Given the description of an element on the screen output the (x, y) to click on. 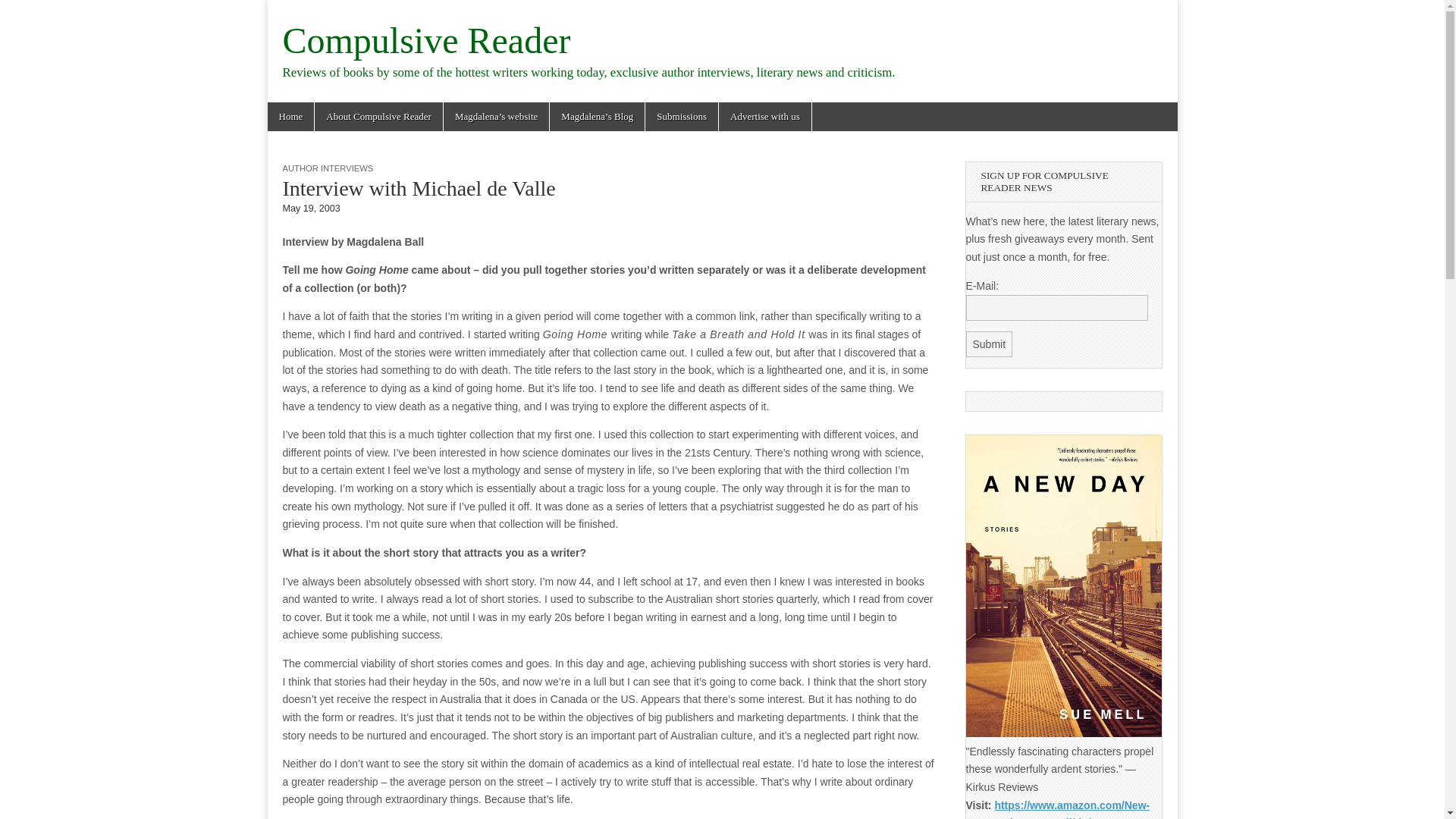
About Compulsive Reader (378, 116)
Submit (989, 344)
Submissions (681, 116)
AUTHOR INTERVIEWS (327, 167)
Compulsive Reader (426, 40)
Home (290, 116)
Compulsive Reader (426, 40)
Advertise with us (764, 116)
Submit (989, 344)
